Given the description of an element on the screen output the (x, y) to click on. 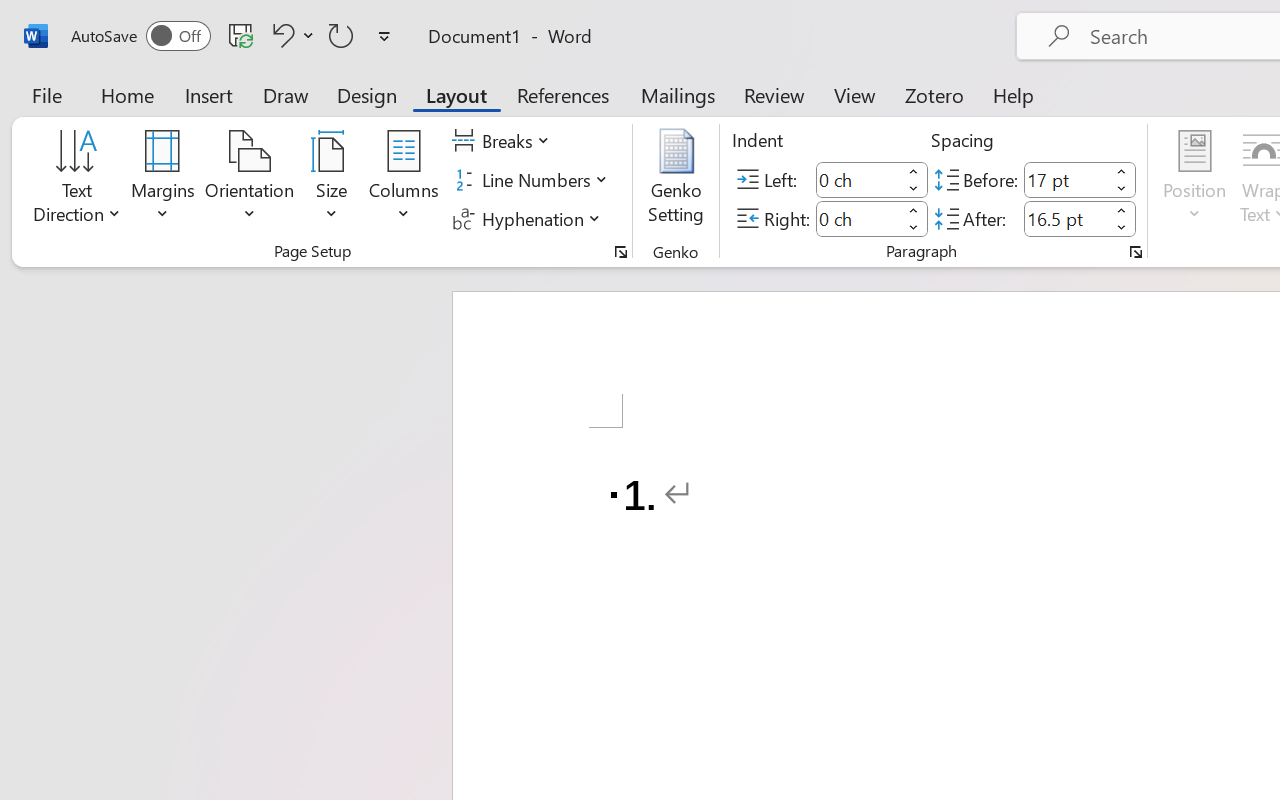
Columns (404, 179)
Genko Setting... (676, 179)
Repeat Doc Close (341, 35)
Position (1194, 179)
